Given the description of an element on the screen output the (x, y) to click on. 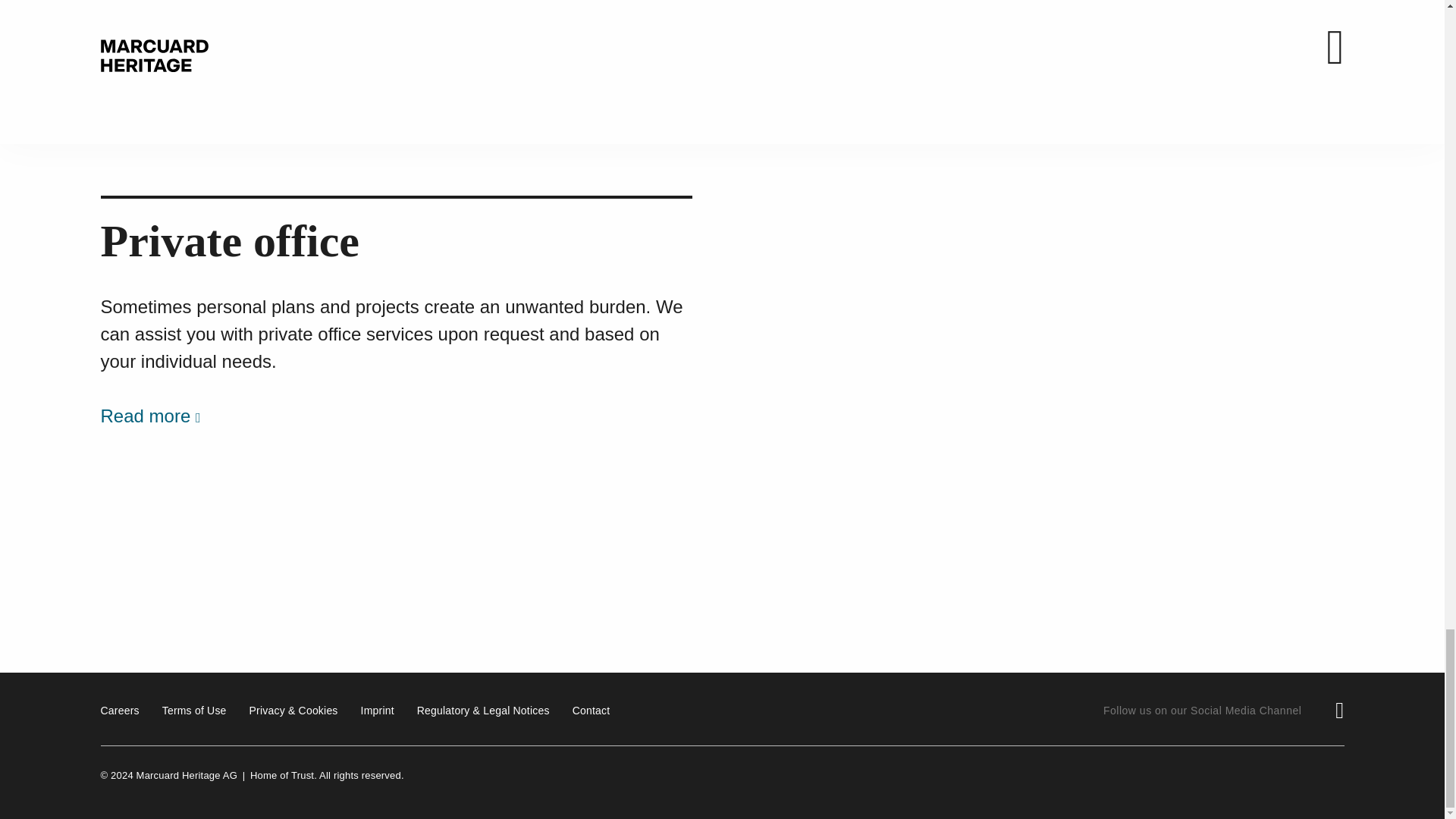
Read more (154, 105)
Read more (806, 105)
Careers (119, 710)
Imprint (377, 710)
Contact (591, 710)
Read more (154, 415)
Terms of Use (194, 710)
